Given the description of an element on the screen output the (x, y) to click on. 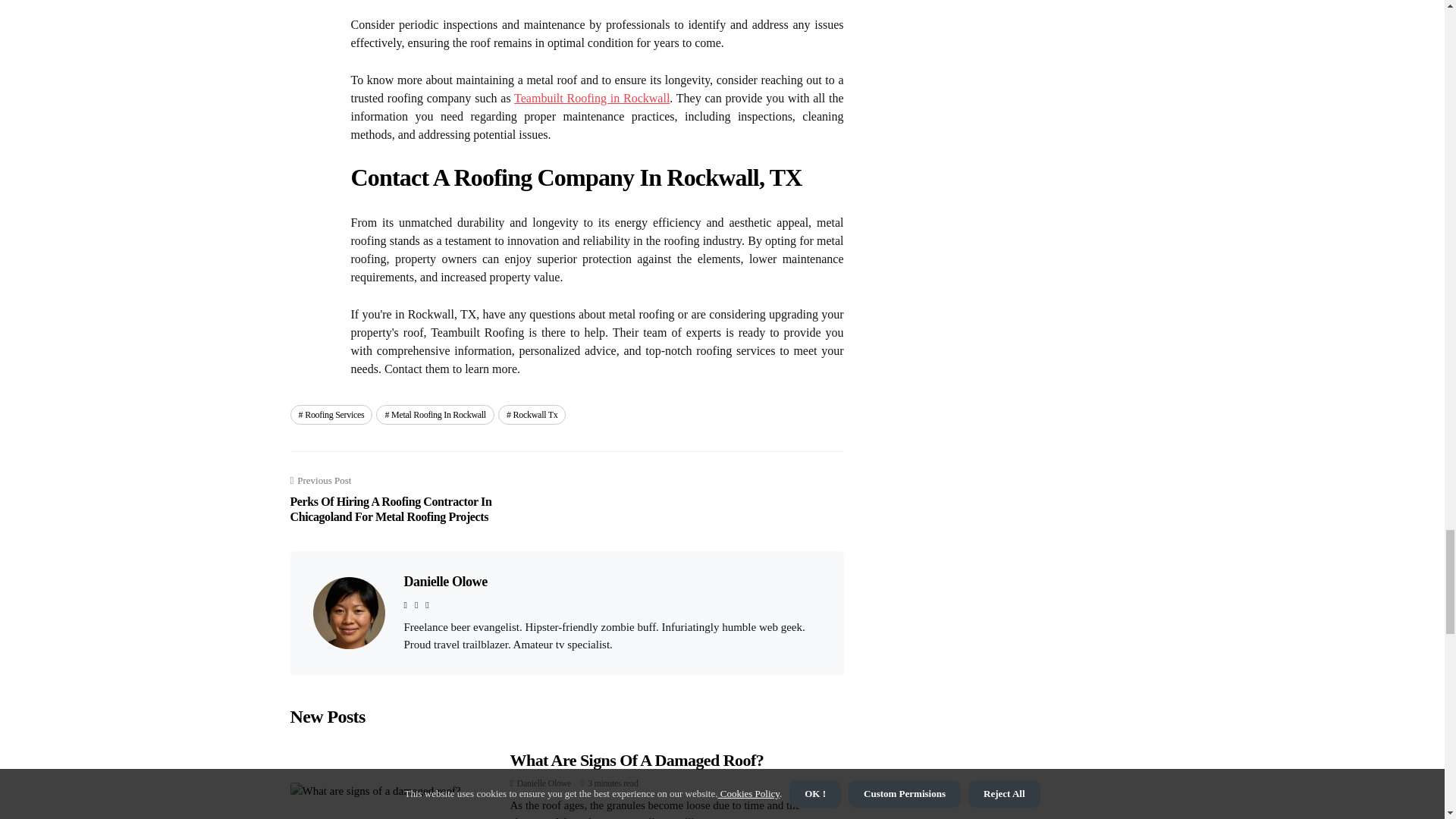
Danielle Olowe (444, 580)
Teambuilt Roofing in Rockwall (591, 97)
Roofing Services (330, 414)
Posts by Danielle Olowe (543, 783)
Rockwall Tx (531, 414)
Metal Roofing In Rockwall (435, 414)
What Are Signs Of A Damaged Roof? (635, 760)
Danielle Olowe (543, 783)
